Given the description of an element on the screen output the (x, y) to click on. 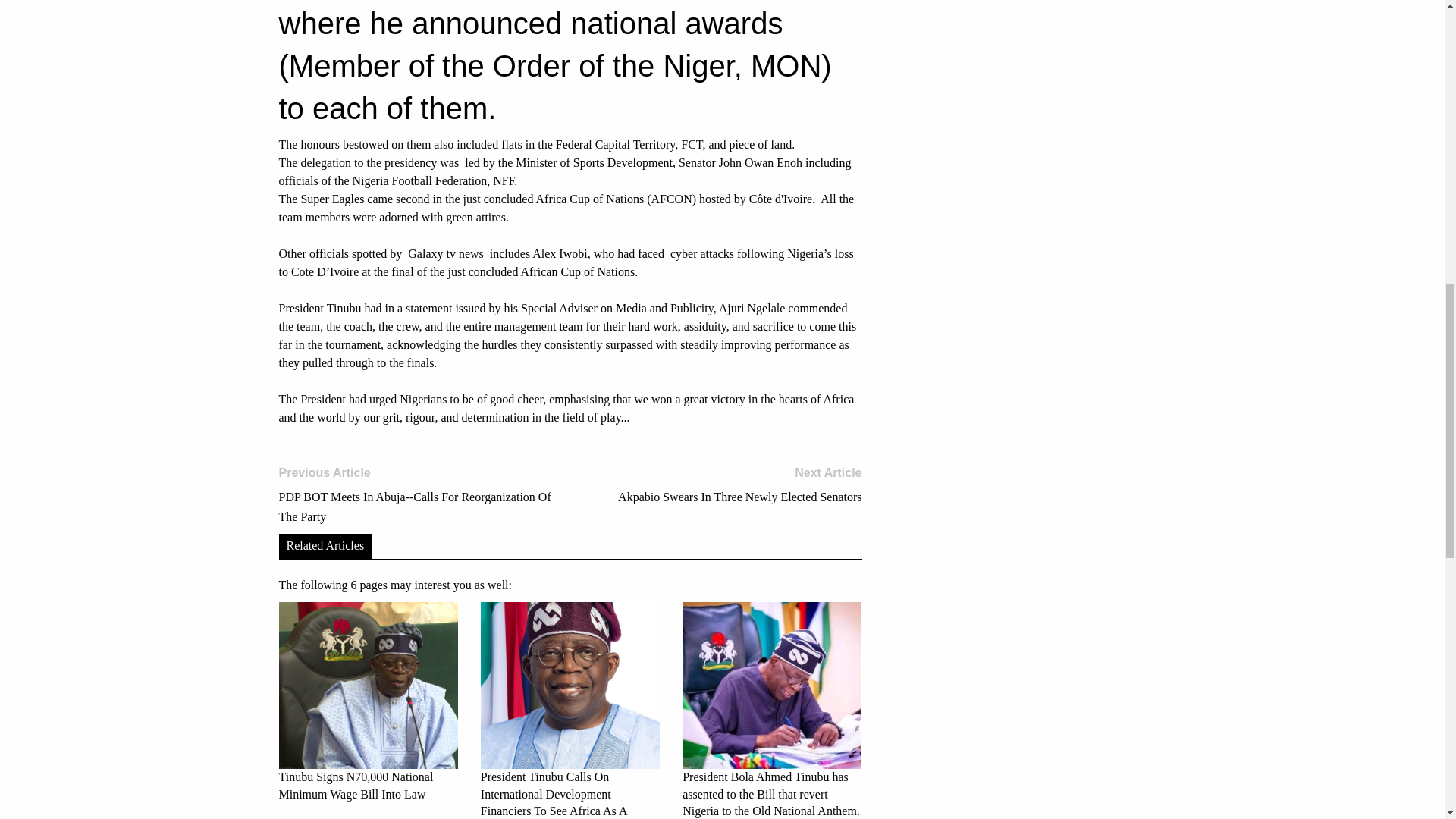
Akpabio Swears In Three Newly Elected Senators (720, 485)
Tinubu Signs N70,000 National Minimum Wage Bill Into Law (720, 485)
